Given the description of an element on the screen output the (x, y) to click on. 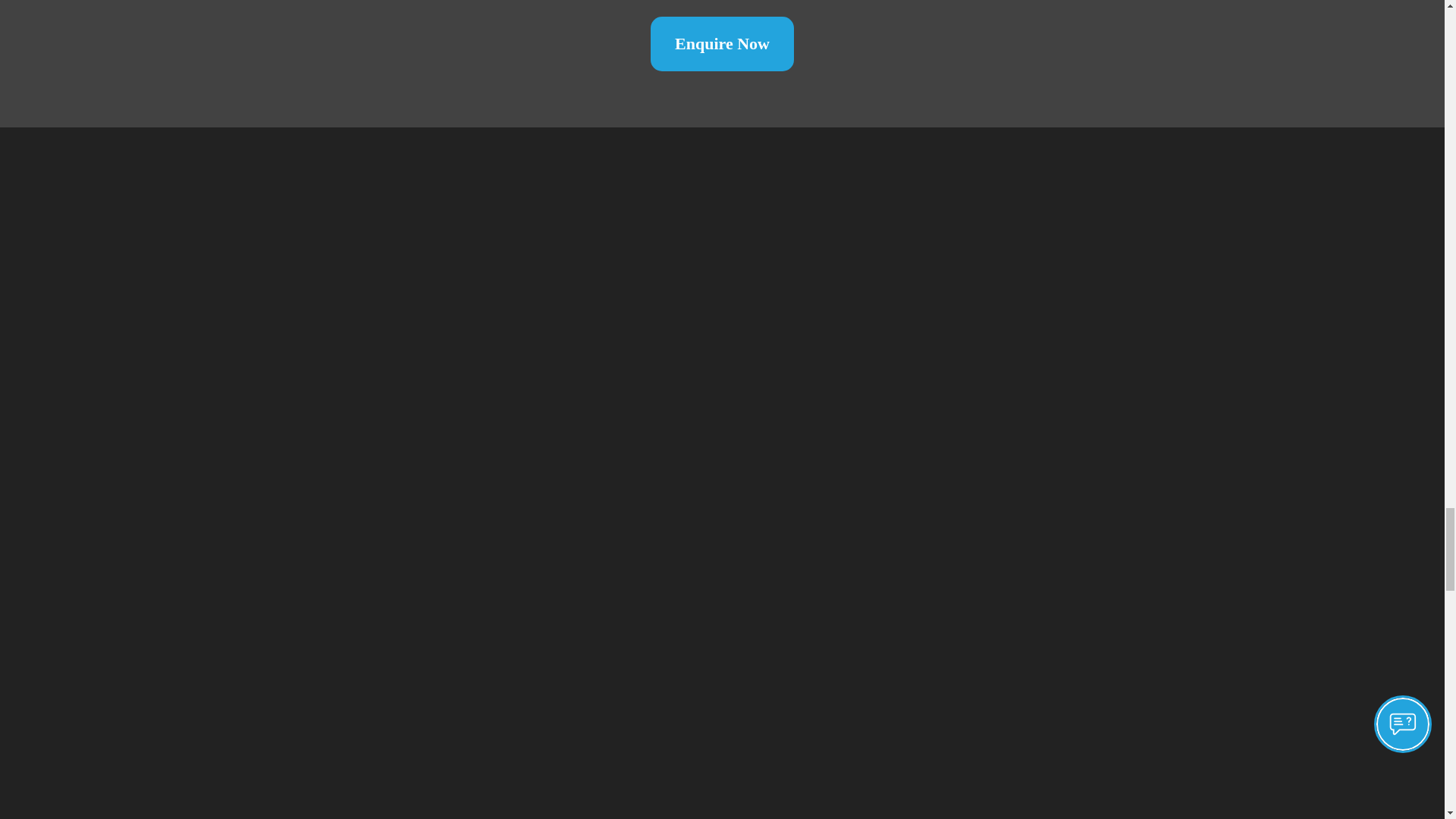
Enquire Now (721, 43)
